Given the description of an element on the screen output the (x, y) to click on. 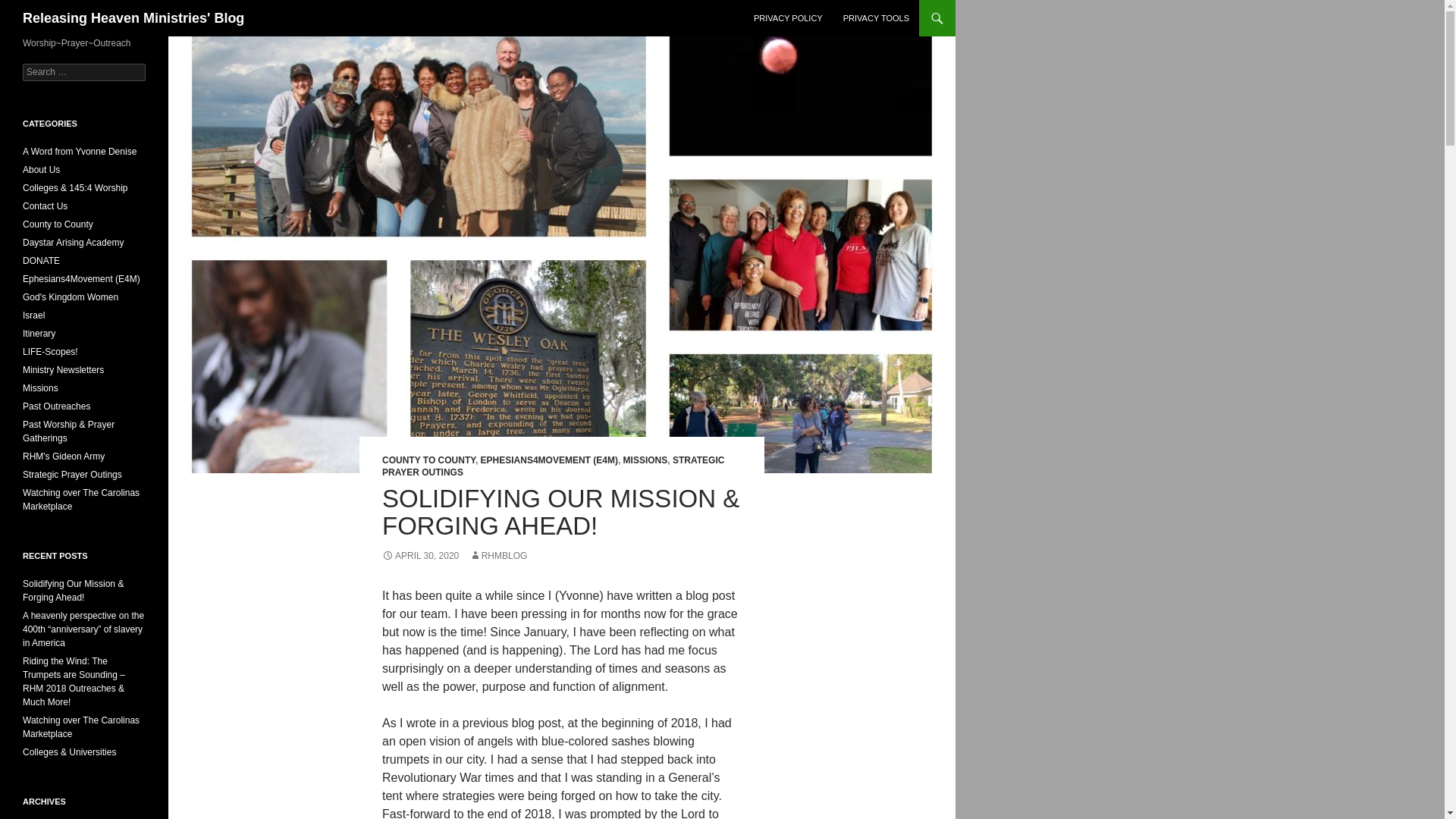
Releasing Heaven Ministries' Blog (133, 18)
Ministry Newsletters (63, 369)
Daystar Arising Academy (73, 242)
PRIVACY TOOLS (876, 18)
About Us (41, 169)
APRIL 30, 2020 (419, 555)
Past Outreaches (56, 406)
COUNTY TO COUNTY (428, 460)
Contact Us (44, 205)
RHM's Gideon Army (63, 456)
STRATEGIC PRAYER OUTINGS (552, 466)
Strategic Prayer Outings (72, 474)
PRIVACY POLICY (787, 18)
County to County (58, 224)
A Word from Yvonne Denise (79, 151)
